Given the description of an element on the screen output the (x, y) to click on. 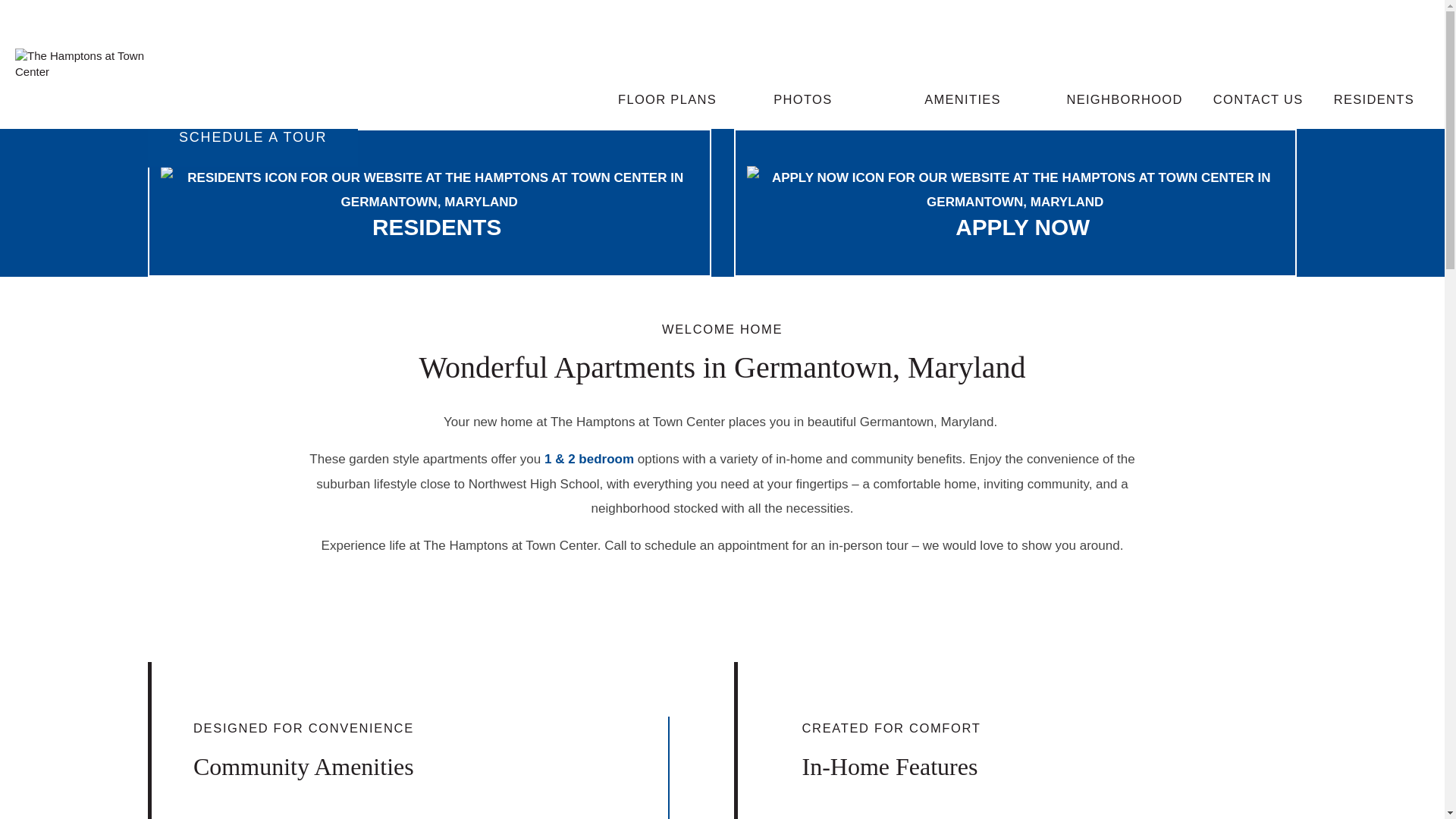
AMENITIES (963, 99)
RESIDENTS (436, 226)
RESIDENTS (1374, 99)
PHOTOS (803, 99)
SCHEDULE A TOUR (253, 136)
APPLY NOW (1022, 226)
FLOOR PLANS (667, 99)
CONTACT US (1258, 99)
NEIGHBORHOOD (1123, 99)
